Given the description of an element on the screen output the (x, y) to click on. 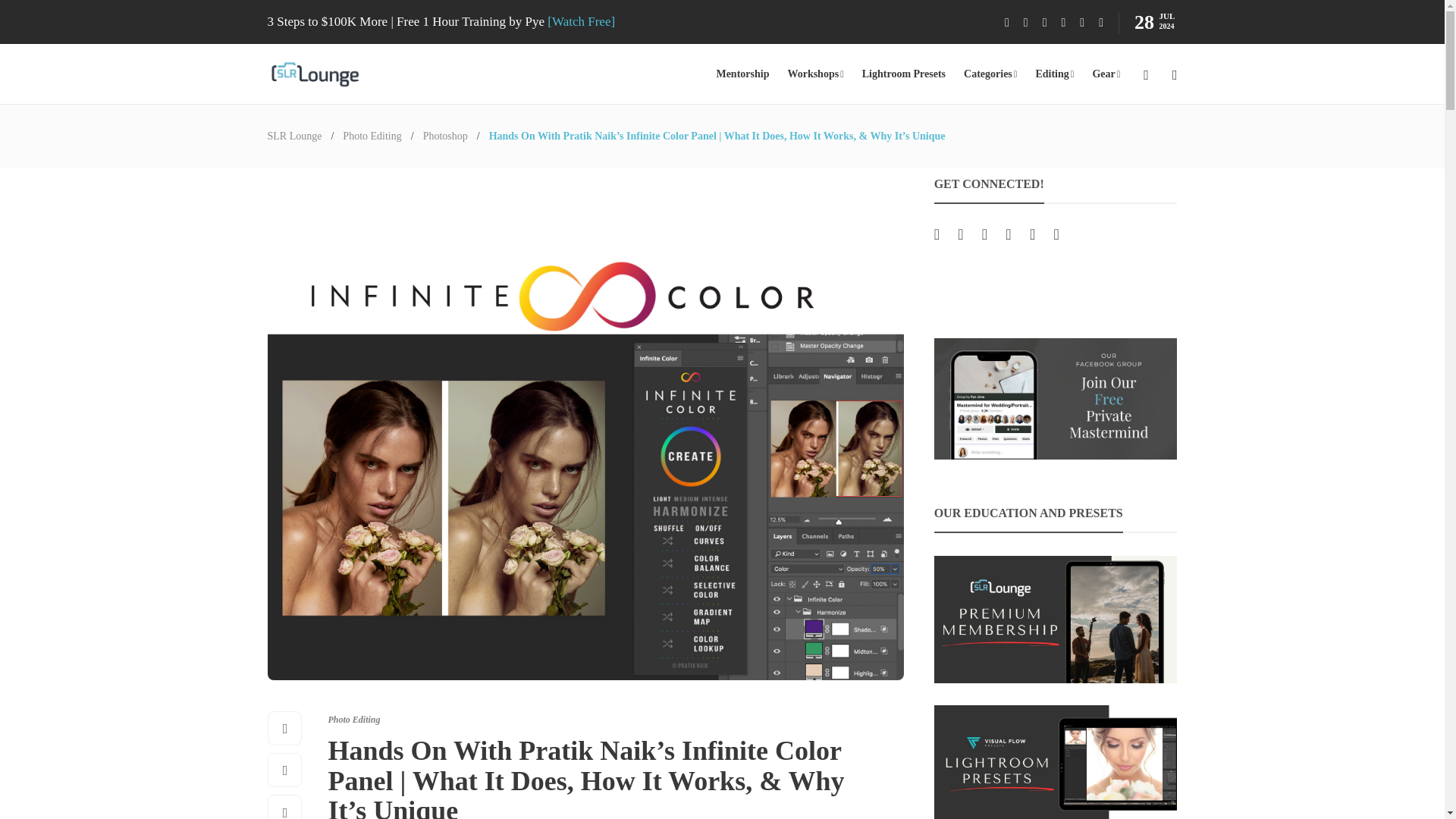
SLR Lounge (293, 135)
